Given the description of an element on the screen output the (x, y) to click on. 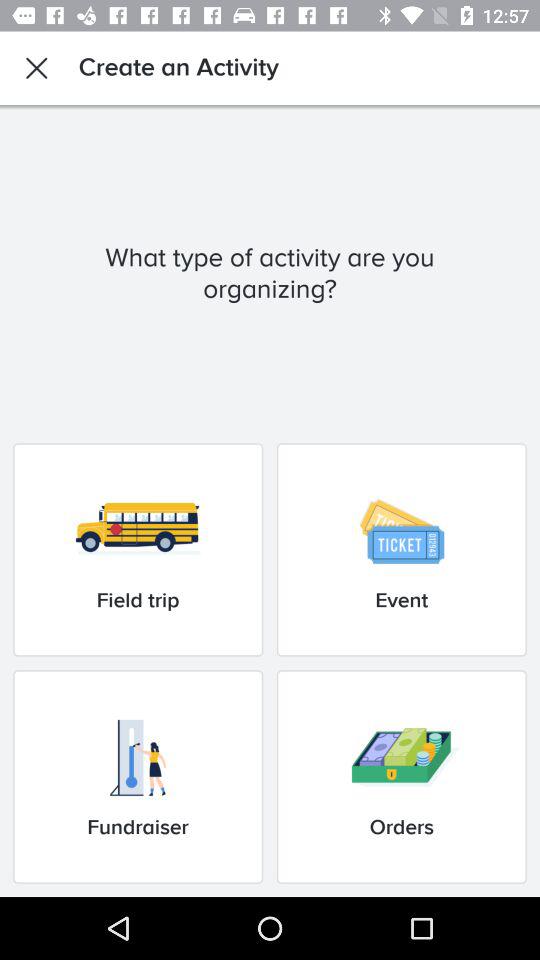
click the icon below the event icon (401, 776)
